Given the description of an element on the screen output the (x, y) to click on. 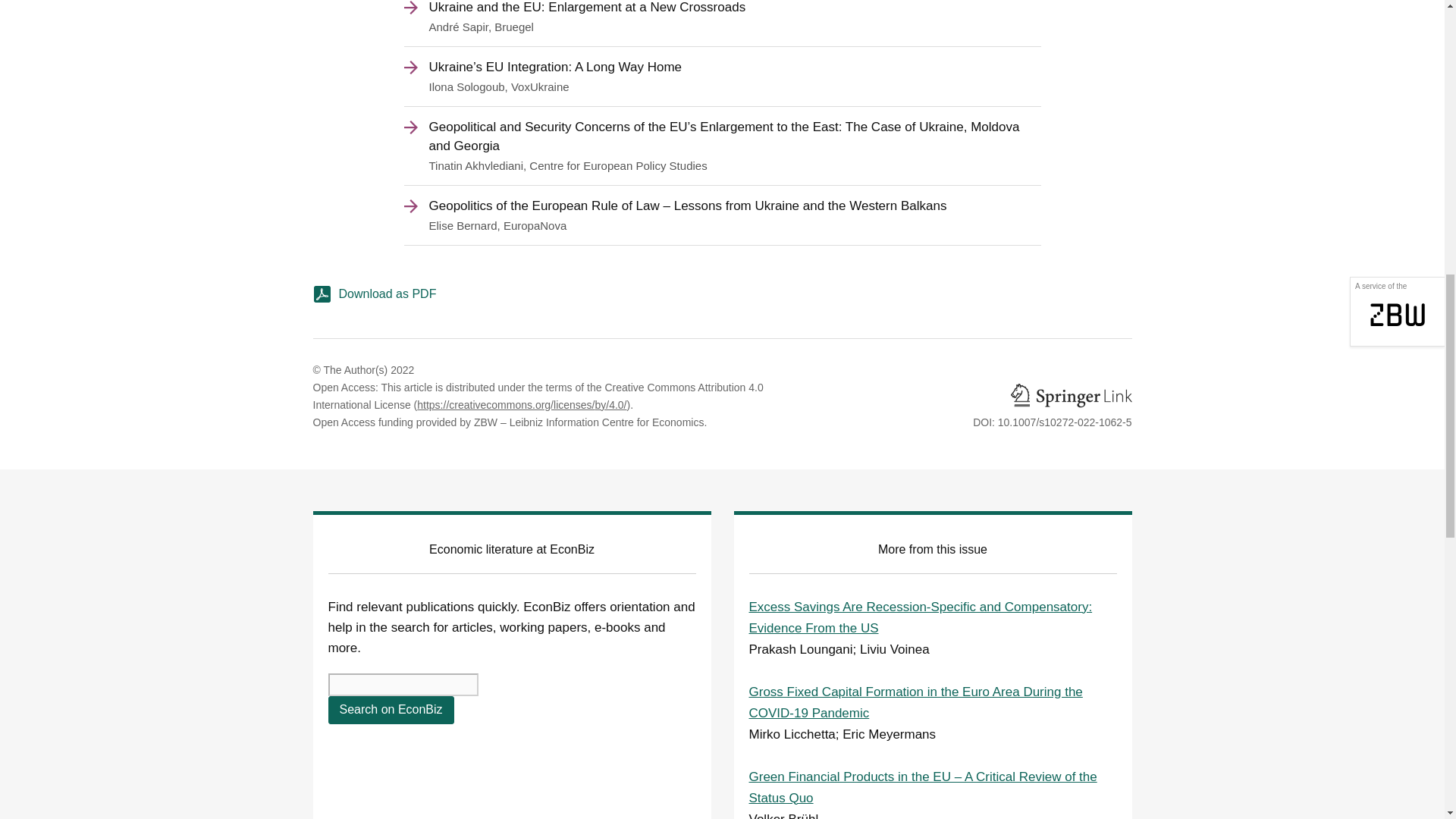
Download as PDF (722, 299)
Ukraine and the EU: Enlargement at a New Crossroads (722, 8)
Search on EconBiz (389, 709)
